Given the description of an element on the screen output the (x, y) to click on. 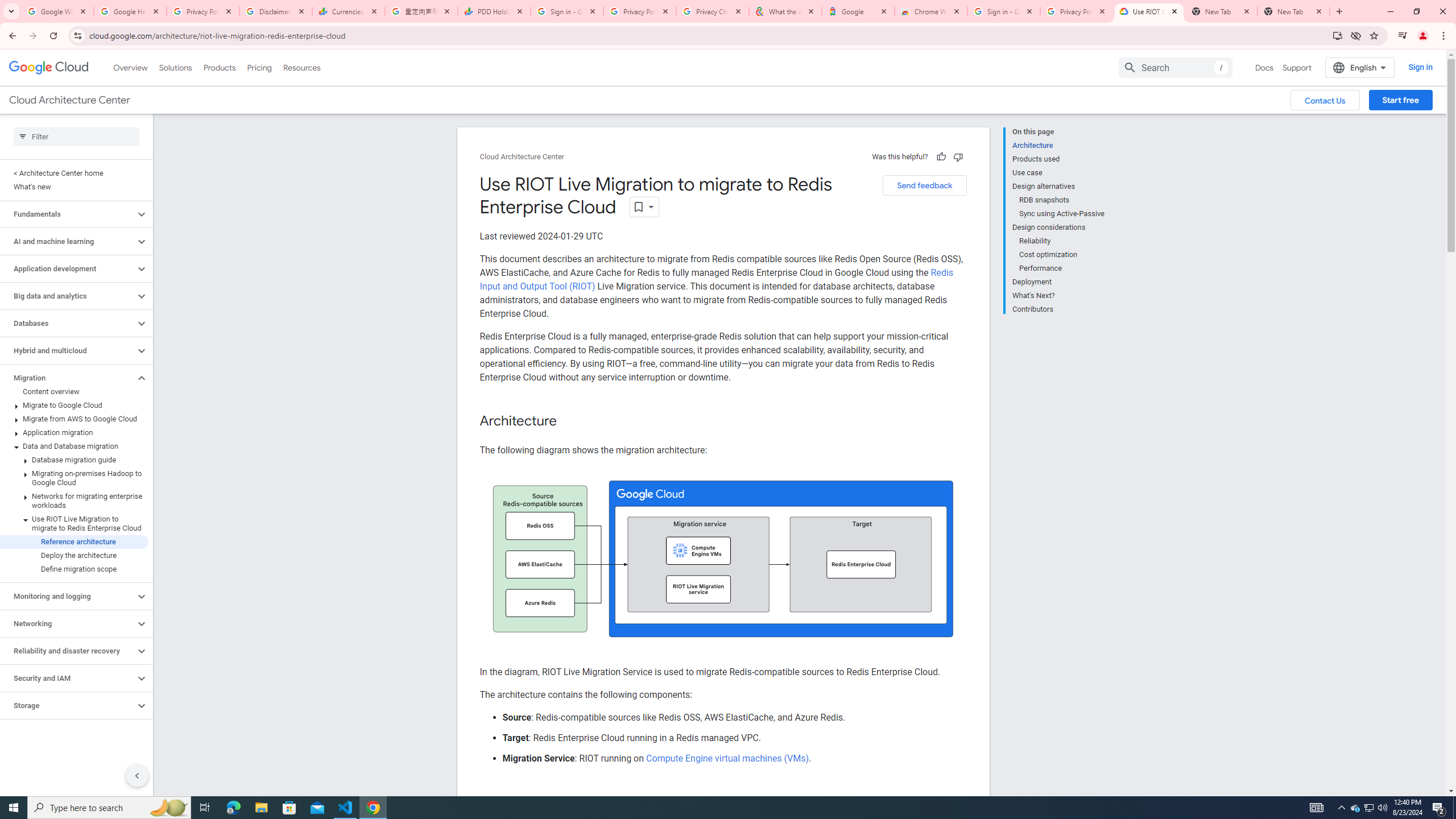
Solutions (175, 67)
Cost optimization (1062, 254)
Install Google Cloud (1336, 35)
Products (218, 67)
Design considerations (1058, 227)
Security and IAM (67, 678)
Deploy the architecture (74, 555)
Type to filter (76, 136)
Compute Engine virtual machines (VMs) (726, 758)
Resources (301, 67)
